Given the description of an element on the screen output the (x, y) to click on. 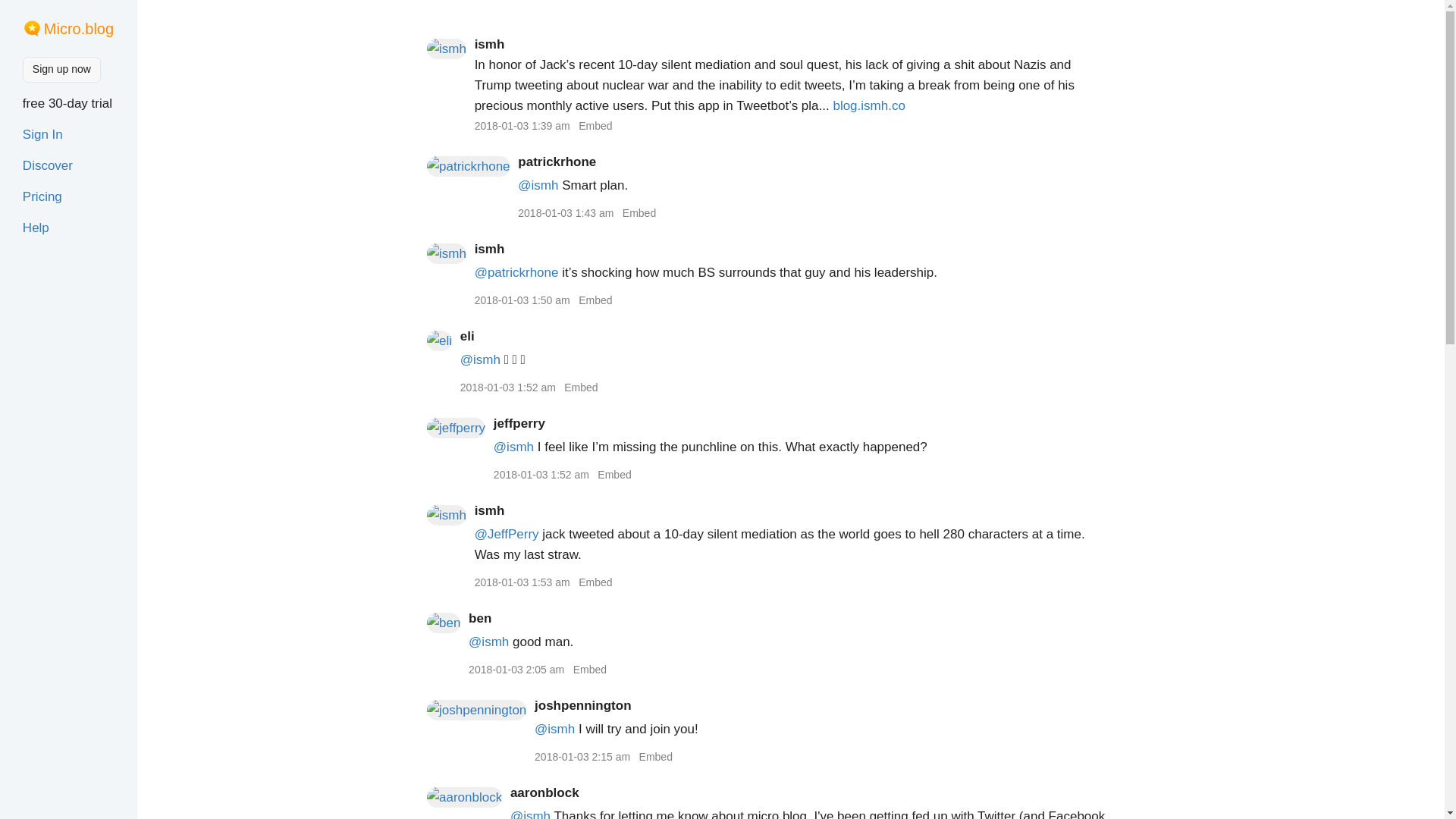
patrickrhone (556, 161)
eli (467, 336)
Embed (594, 300)
Micro.blog (78, 28)
Embed (639, 213)
ismh (489, 43)
2018-01-03 1:43 am (565, 213)
Embed (594, 125)
ismh (489, 248)
Help (36, 227)
